Given the description of an element on the screen output the (x, y) to click on. 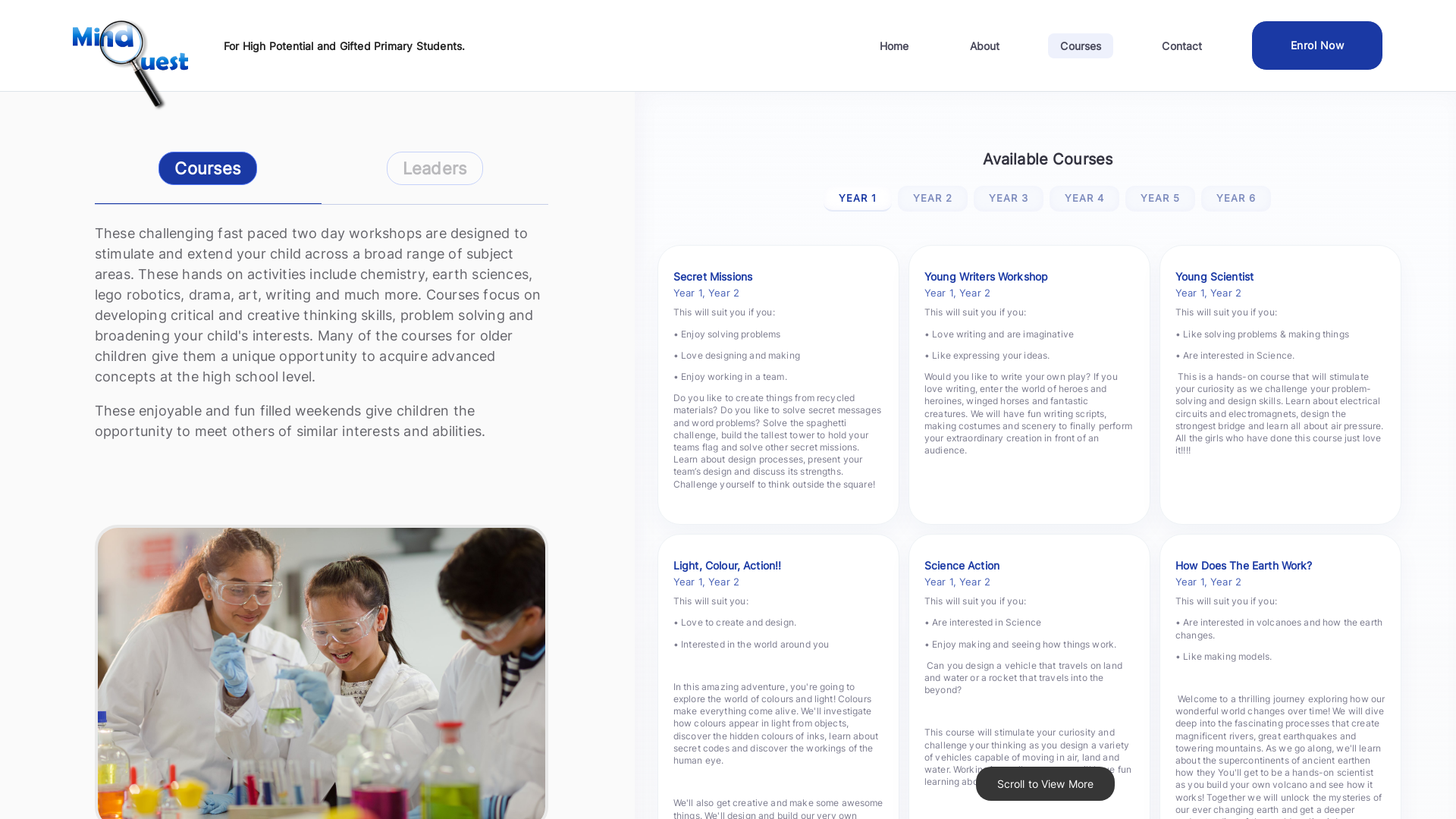
Courses Element type: text (1080, 45)
Home Element type: text (894, 45)
About Element type: text (984, 45)
Contact Element type: text (1181, 45)
Enrol Now Element type: text (1317, 45)
